Given the description of an element on the screen output the (x, y) to click on. 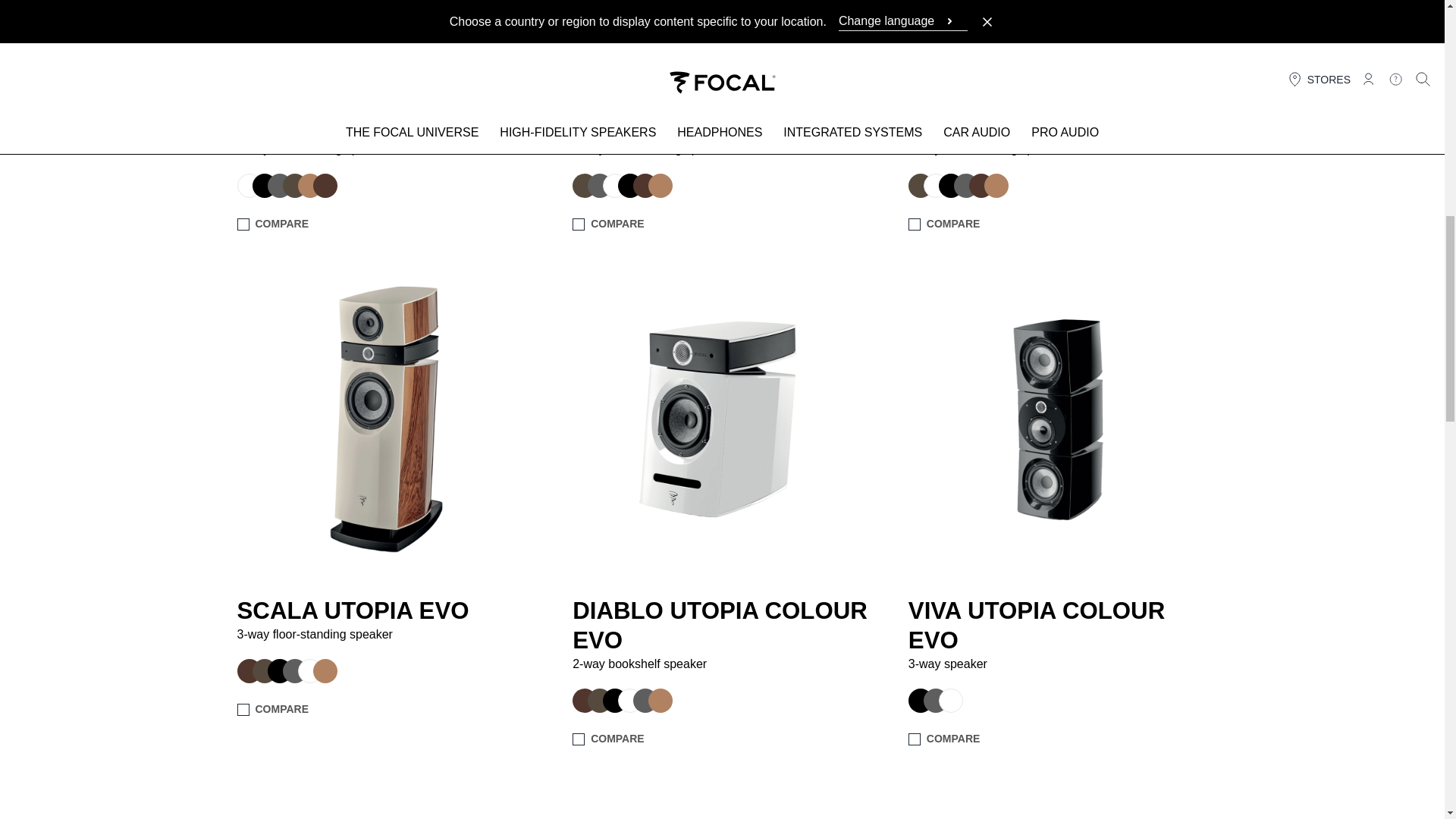
Ash Grey (965, 185)
Dark Walnut (645, 185)
Hot Chocolate (263, 671)
Black Lacquer (950, 185)
Natural Walnut (309, 185)
Dark Walnut (980, 185)
Hot Chocolate (293, 185)
White Carrara (935, 185)
on (914, 739)
on (578, 224)
